Given the description of an element on the screen output the (x, y) to click on. 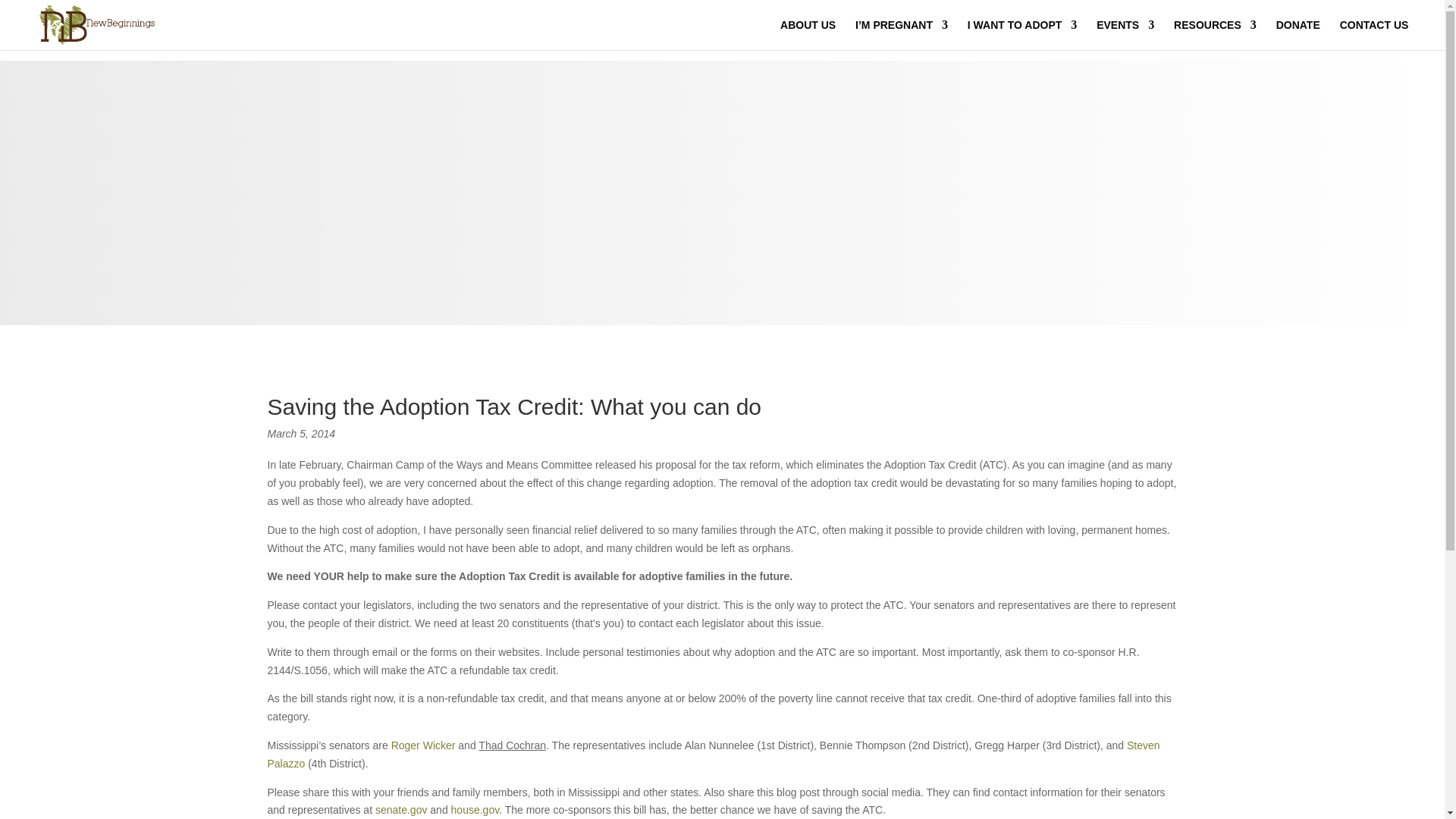
I WANT TO ADOPT (1022, 34)
house.gov (475, 809)
DONATE (1298, 34)
ABOUT US (807, 34)
Steven Palazzo (712, 754)
CONTACT US (1374, 34)
RESOURCES (1214, 34)
EVENTS (1125, 34)
Roger Wicker (423, 745)
senate.gov (401, 809)
